Given the description of an element on the screen output the (x, y) to click on. 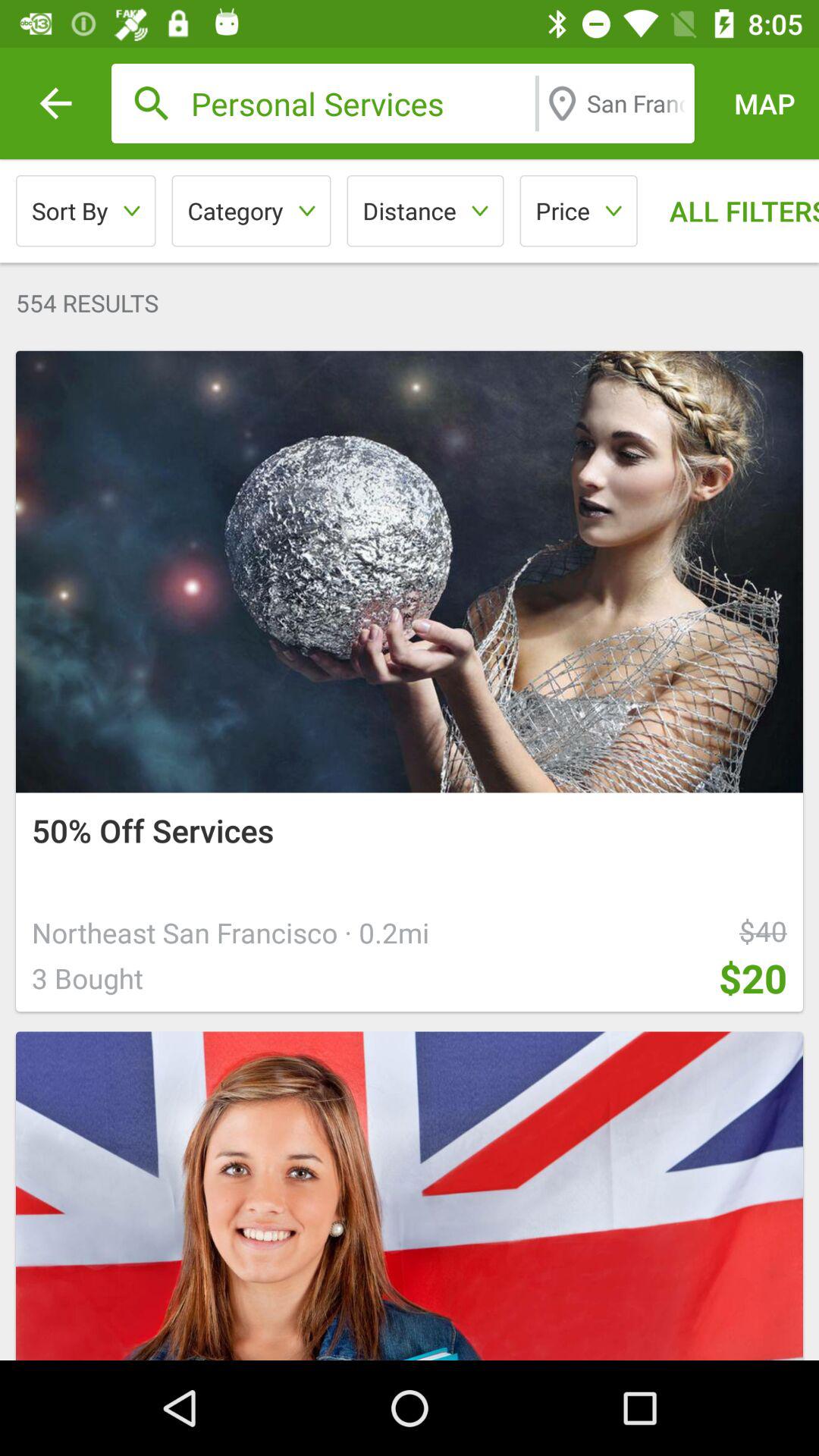
tap icon to the left of price (424, 210)
